Given the description of an element on the screen output the (x, y) to click on. 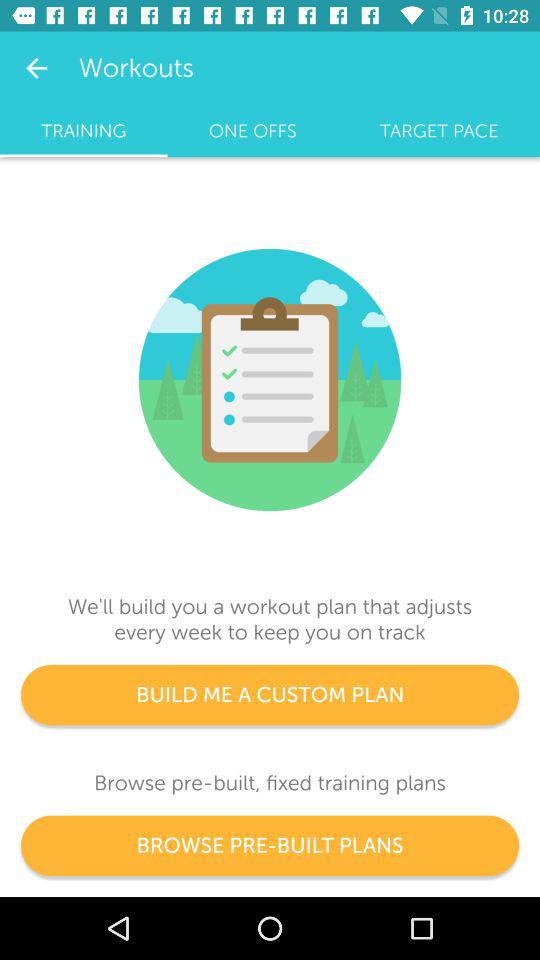
press app to the left of workouts icon (36, 68)
